Given the description of an element on the screen output the (x, y) to click on. 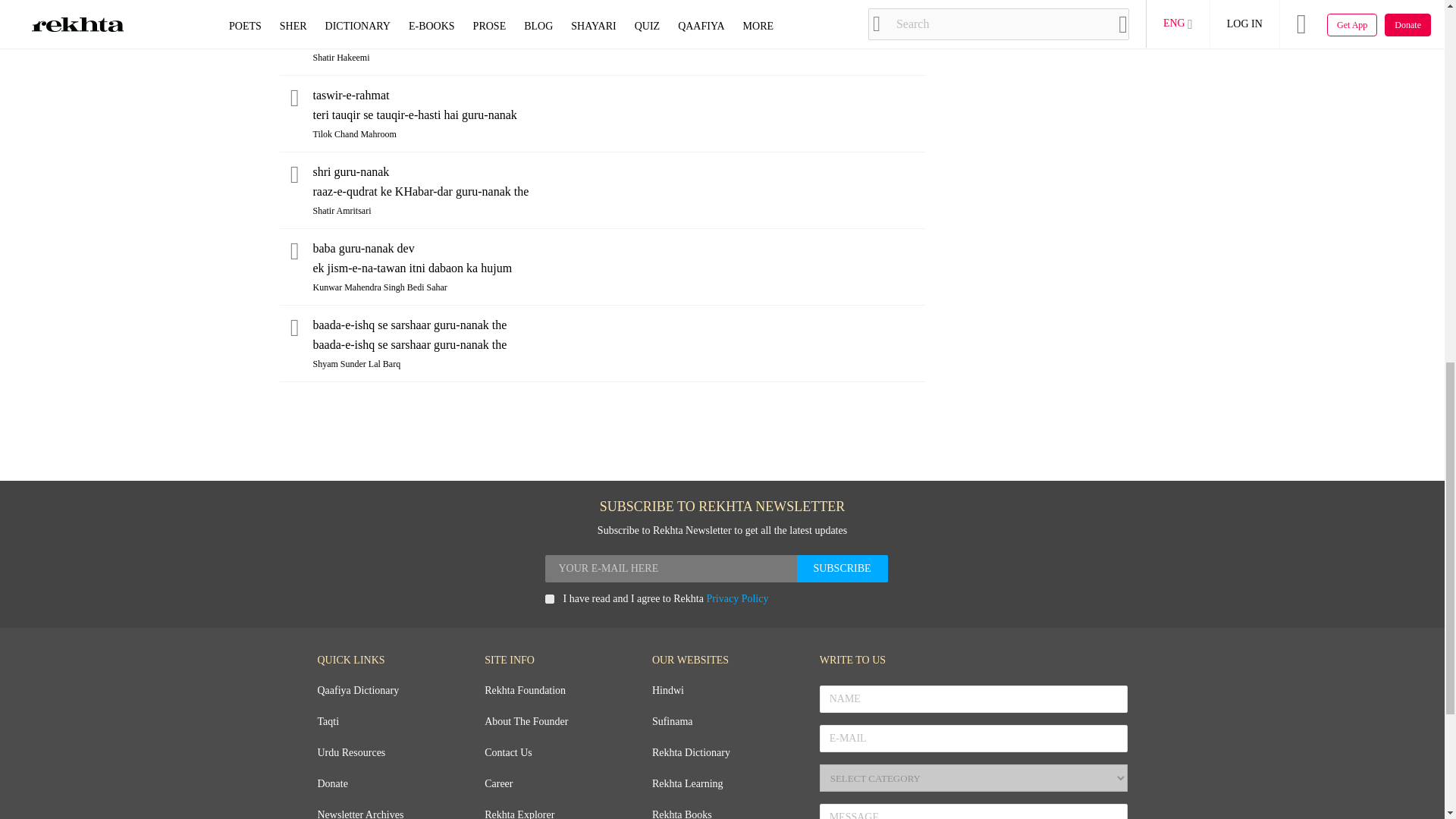
taswir-e-rahmat (618, 95)
Favorites (293, 176)
shri guru-nanak (618, 171)
guru-nanak (618, 18)
Favorites (293, 100)
Favorites (293, 253)
Favorites (293, 23)
baba guru-nanak dev (618, 248)
SUBSCRIBE (841, 568)
baada-e-ishq se sarshaar guru-nanak the (618, 324)
Favorites (293, 329)
